Given the description of an element on the screen output the (x, y) to click on. 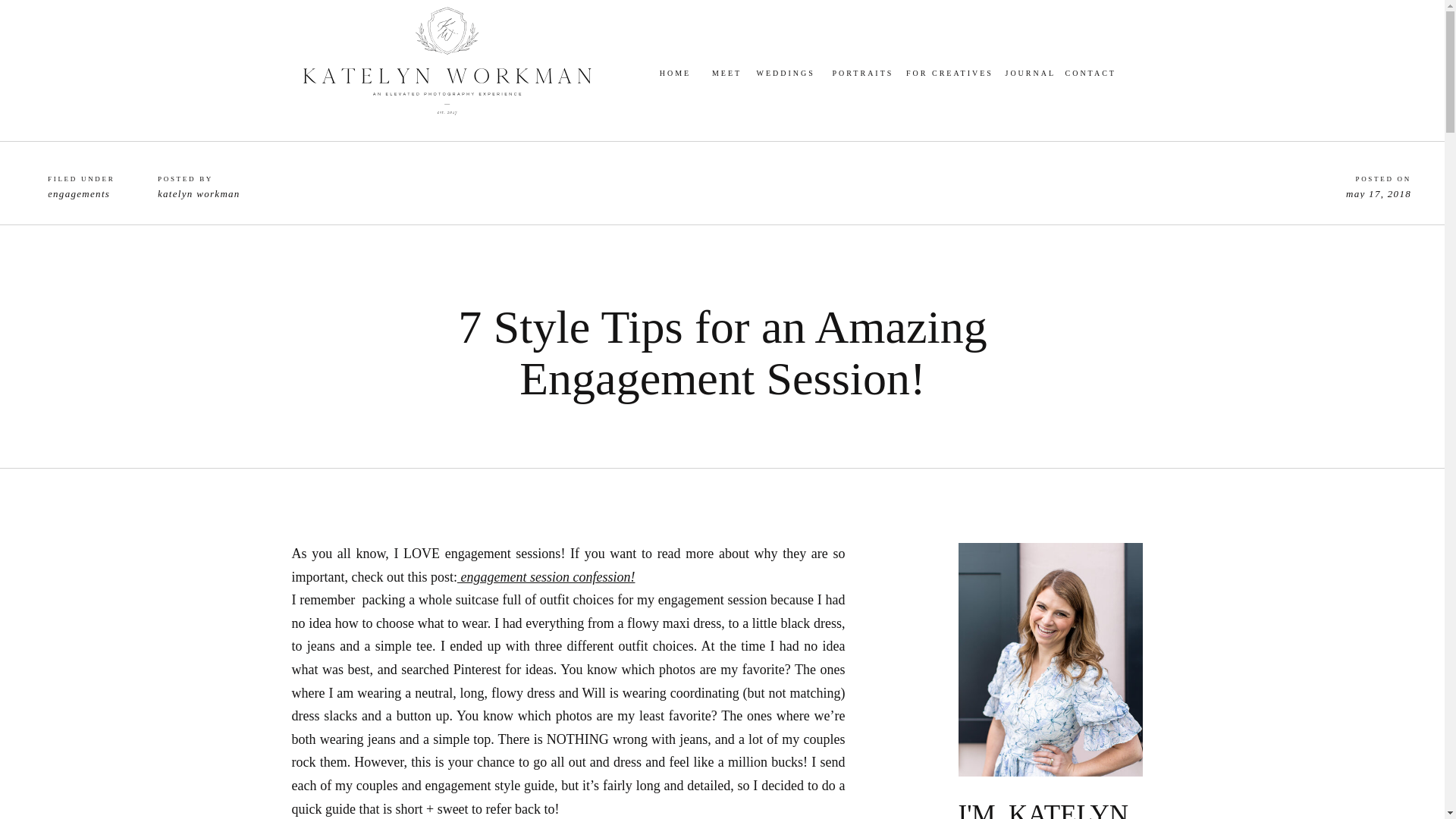
engagements (79, 193)
FOR CREATIVES (948, 74)
MEET (726, 74)
engagement session confession! (545, 576)
HOME (675, 74)
JOURNAL (1027, 74)
PORTRAITS (854, 74)
WEDDINGS (778, 74)
CONTACT (1086, 74)
